Given the description of an element on the screen output the (x, y) to click on. 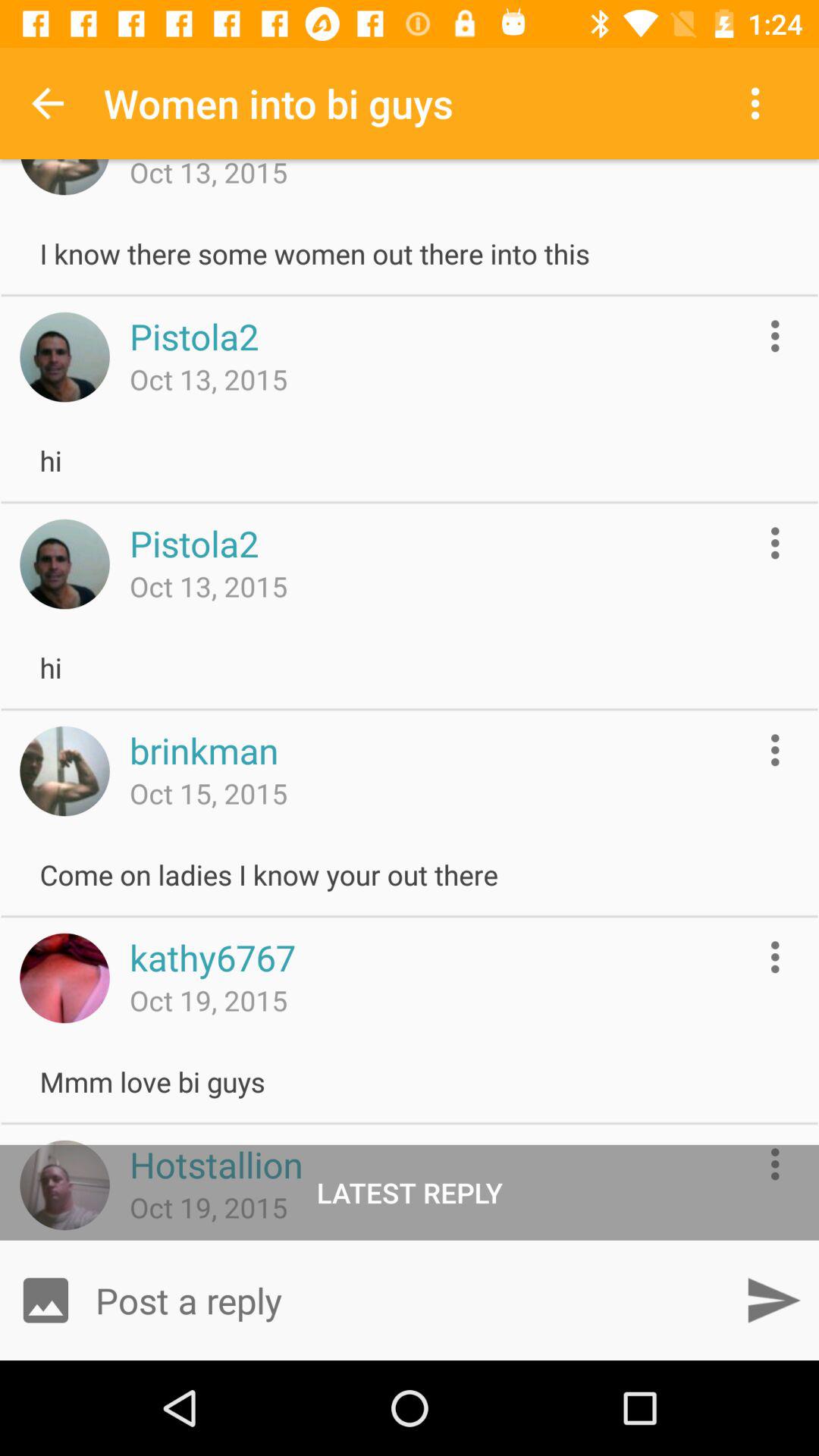
posts a reply in the thread (409, 1300)
